Given the description of an element on the screen output the (x, y) to click on. 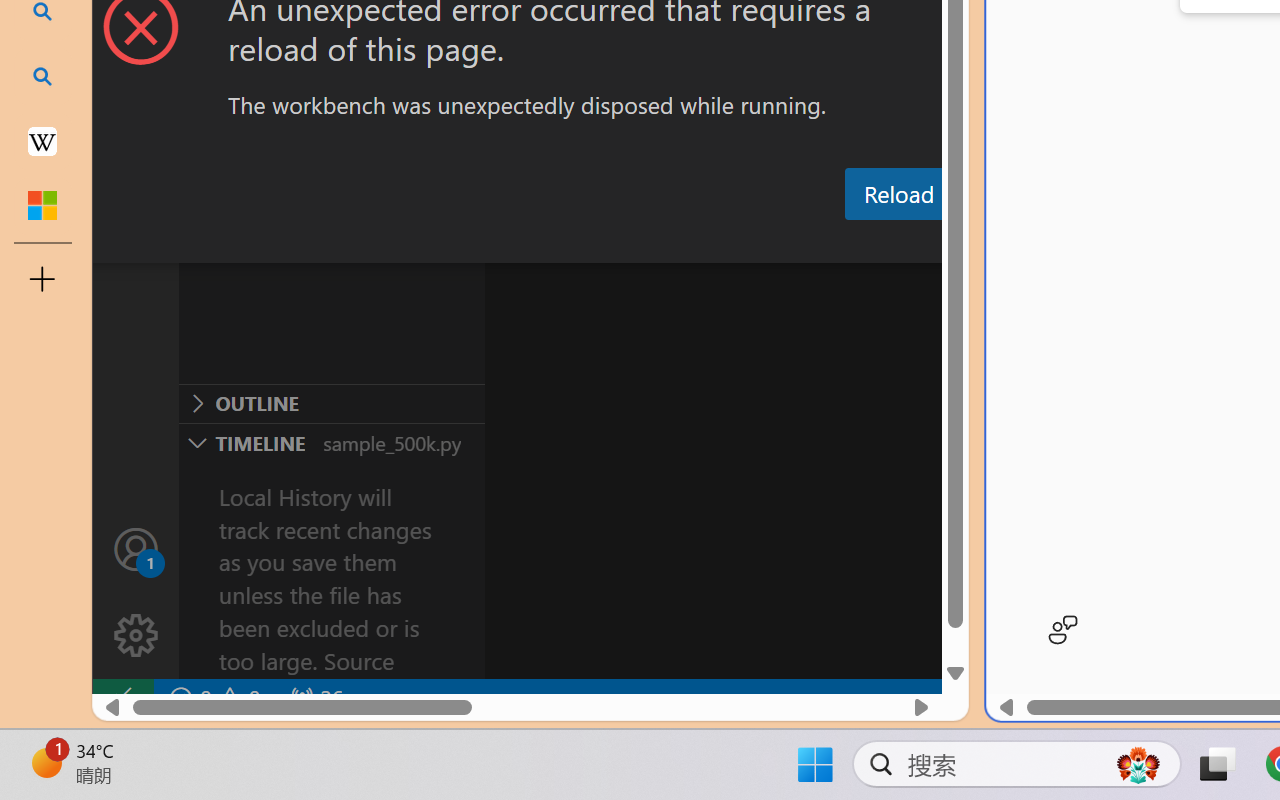
Timeline Section (331, 442)
Reload (898, 193)
remote (122, 698)
Output (Ctrl+Shift+U) (696, 243)
No Problems (212, 698)
Problems (Ctrl+Shift+M) (567, 243)
Terminal (Ctrl+`) (1021, 243)
